Given the description of an element on the screen output the (x, y) to click on. 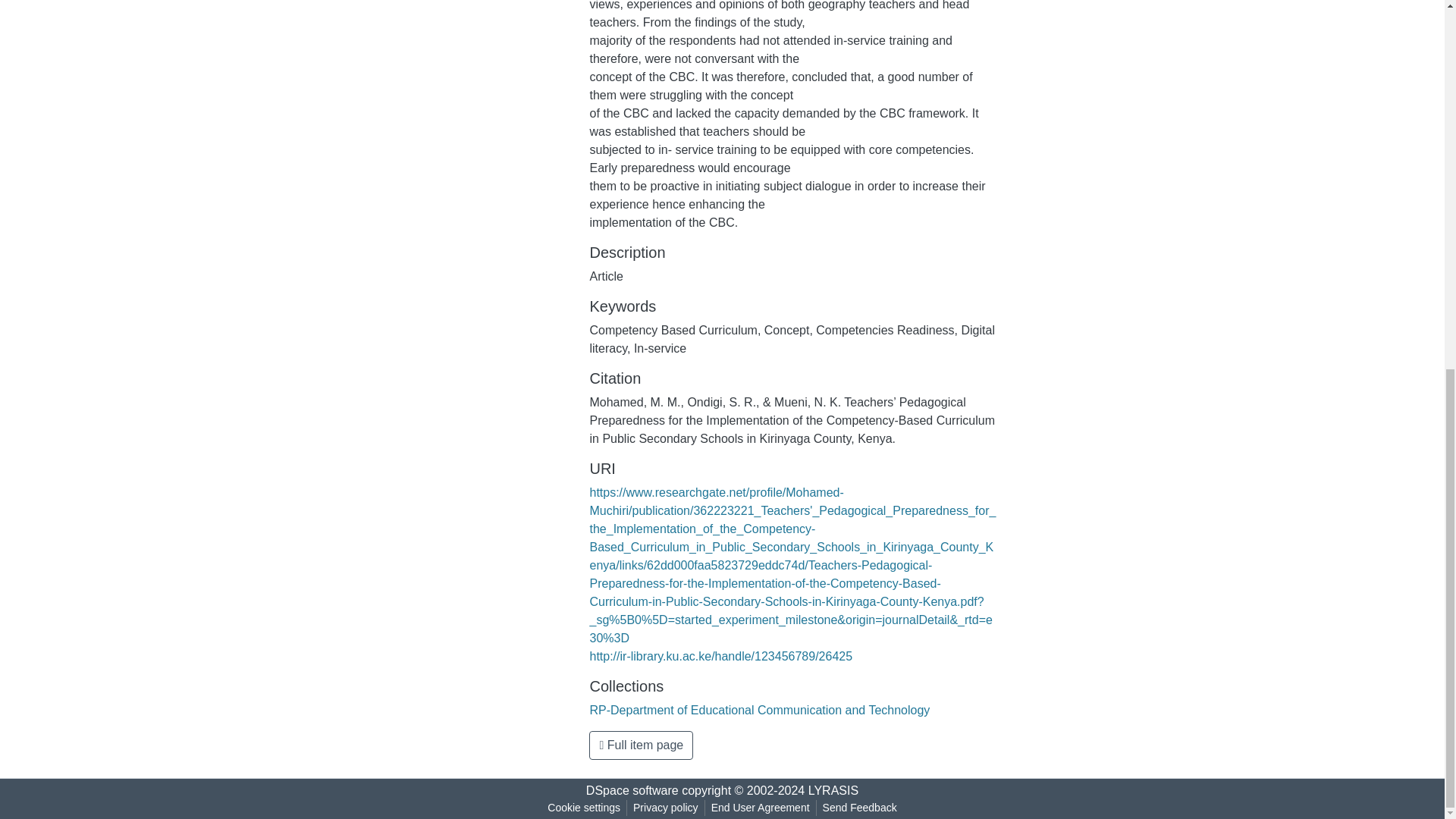
DSpace software (632, 789)
Privacy policy (665, 807)
Send Feedback (859, 807)
End User Agreement (759, 807)
Cookie settings (583, 807)
RP-Department of Educational Communication and Technology (759, 709)
LYRASIS (833, 789)
Full item page (641, 745)
